Given the description of an element on the screen output the (x, y) to click on. 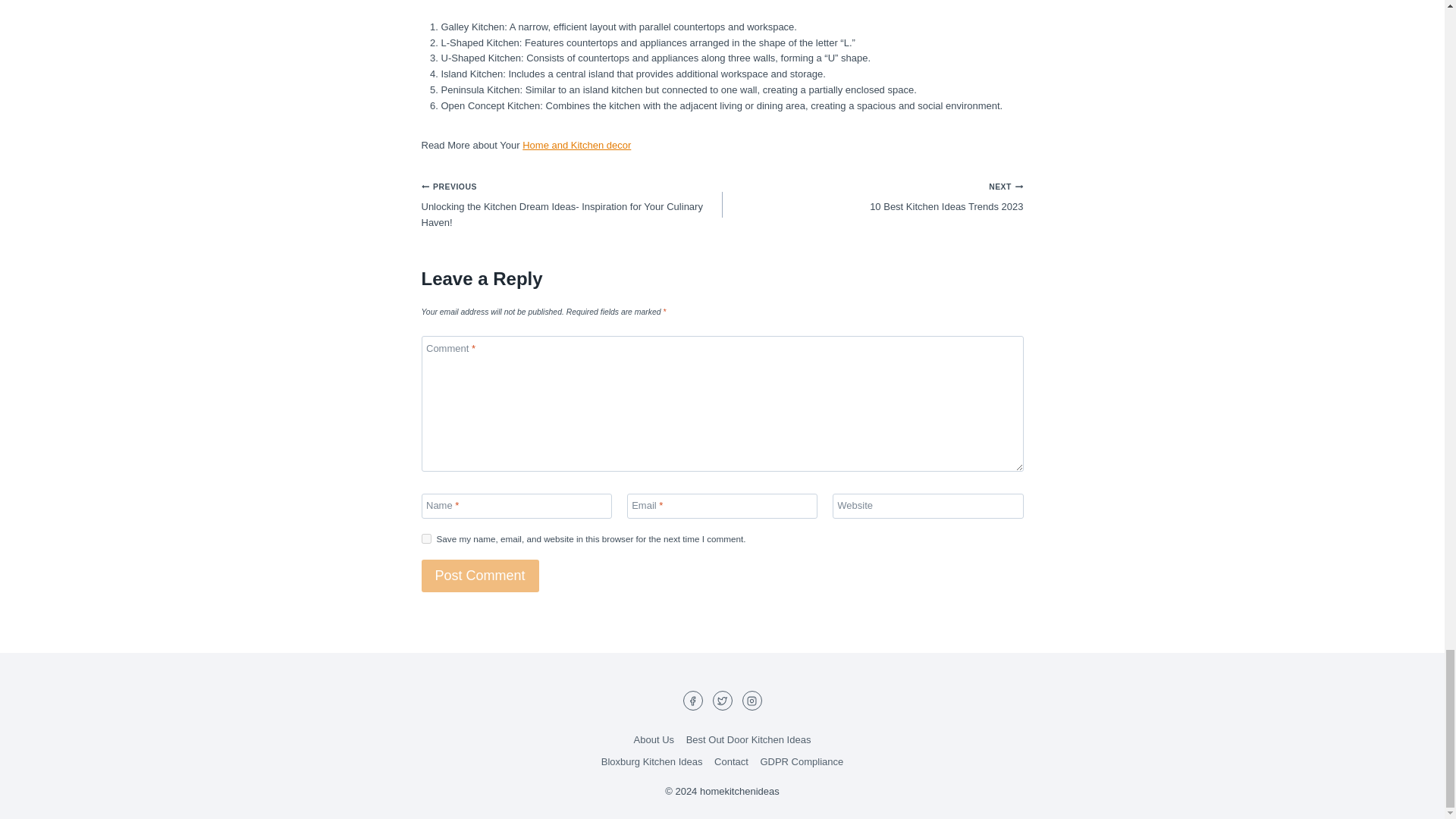
Post Comment (480, 575)
Best Out Door Kitchen Ideas (747, 740)
Post Comment (480, 575)
About Us (653, 740)
GDPR Compliance (801, 762)
Bloxburg Kitchen Ideas (651, 762)
Contact (730, 762)
Home and Kitchen decor (576, 144)
yes (426, 538)
